Given the description of an element on the screen output the (x, y) to click on. 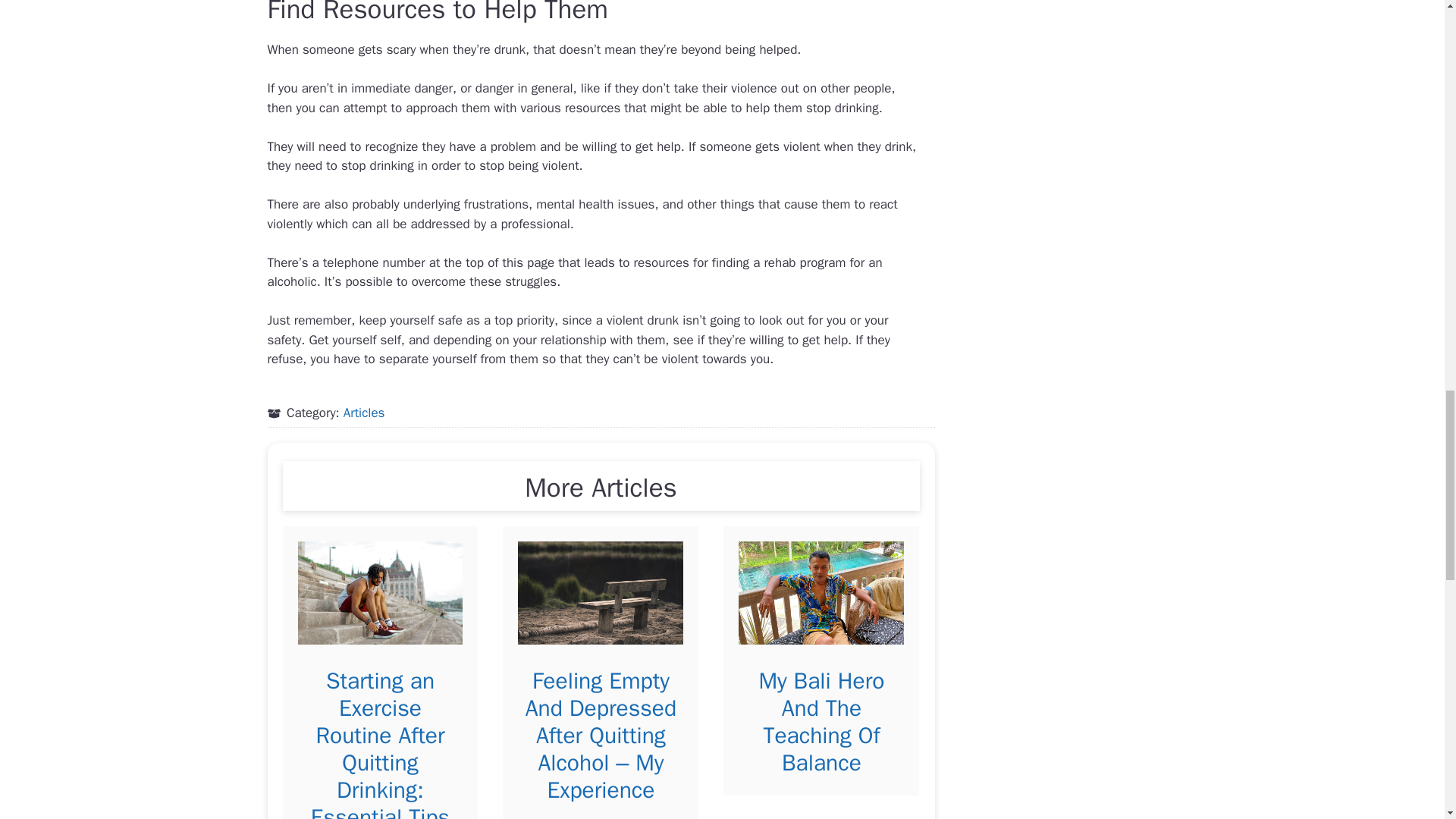
Articles (364, 412)
My Bali Hero And The Teaching Of Balance (820, 721)
